Given the description of an element on the screen output the (x, y) to click on. 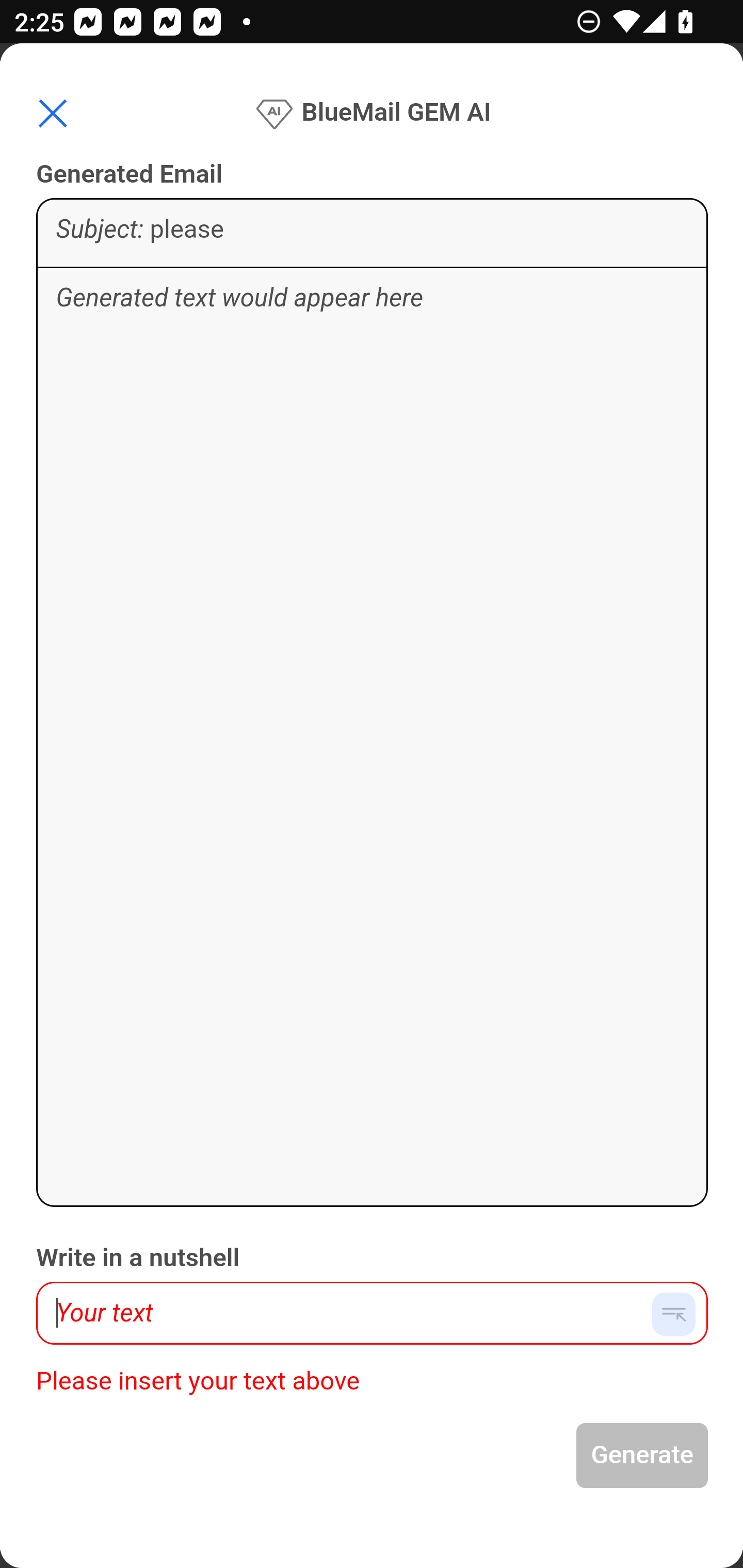
Generate (642, 1455)
